Given the description of an element on the screen output the (x, y) to click on. 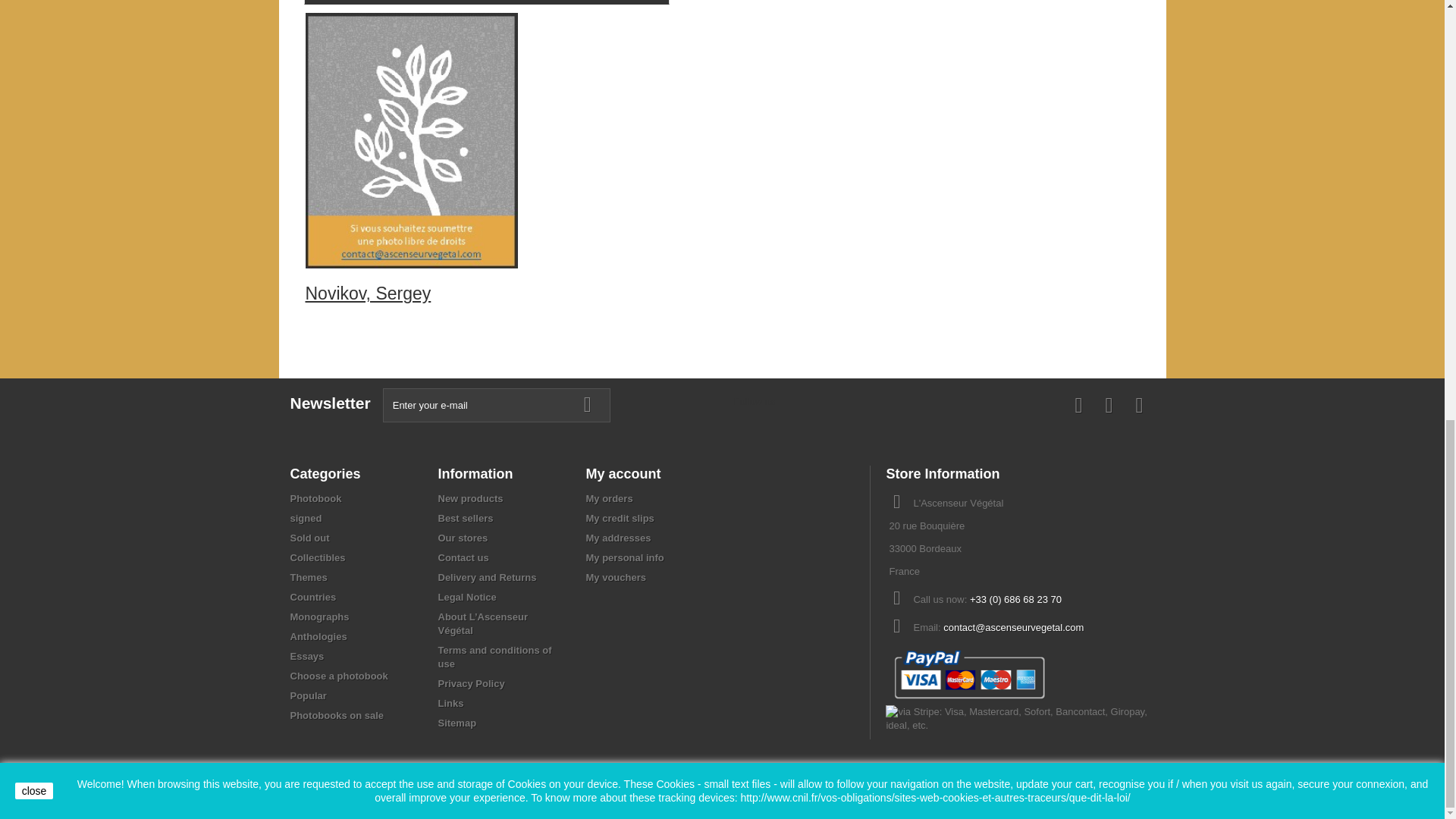
Enter your e-mail (496, 405)
